Given the description of an element on the screen output the (x, y) to click on. 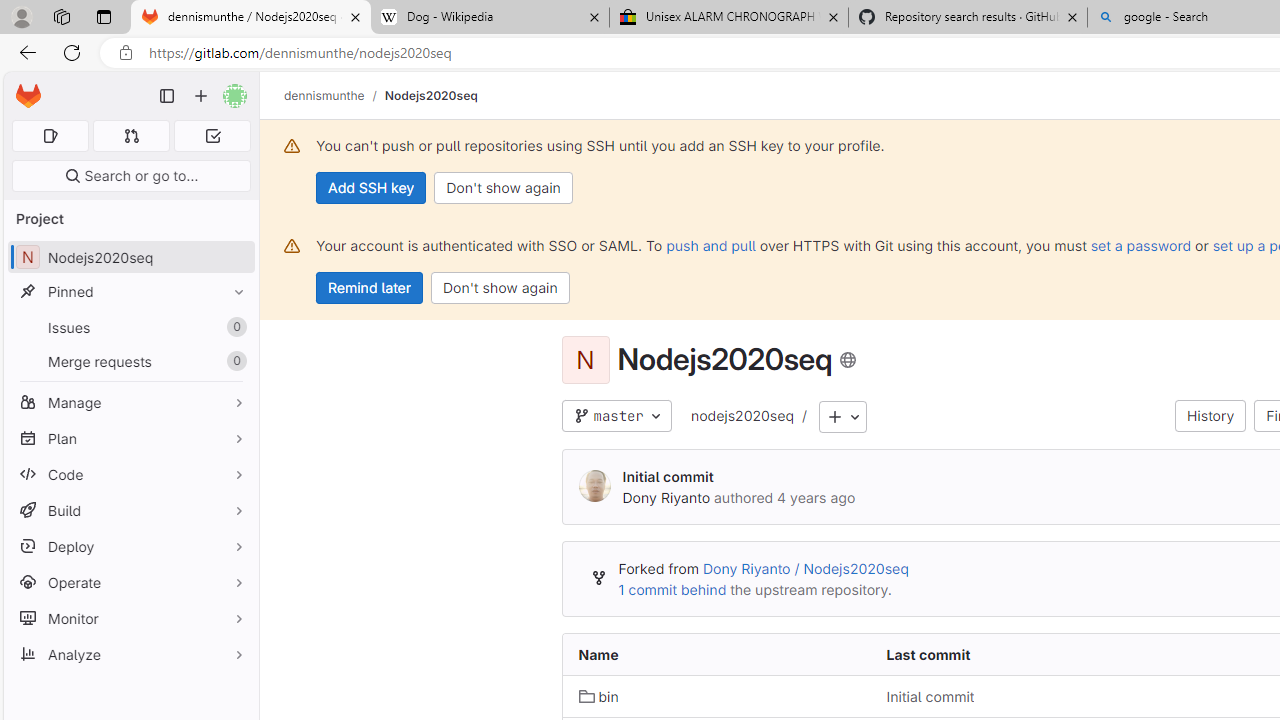
Close tab (1072, 16)
Dony Riyanto's avatar (594, 486)
Skip to main content (23, 87)
nodejs2020seq (741, 415)
set a password (1140, 245)
Name (715, 655)
Back (24, 52)
Class: s16 gl-alert-icon gl-alert-icon-no-title (291, 246)
Plan (130, 438)
push and pull (710, 245)
master (616, 416)
Merge requests0 (130, 361)
dennismunthe/ (334, 95)
